Given the description of an element on the screen output the (x, y) to click on. 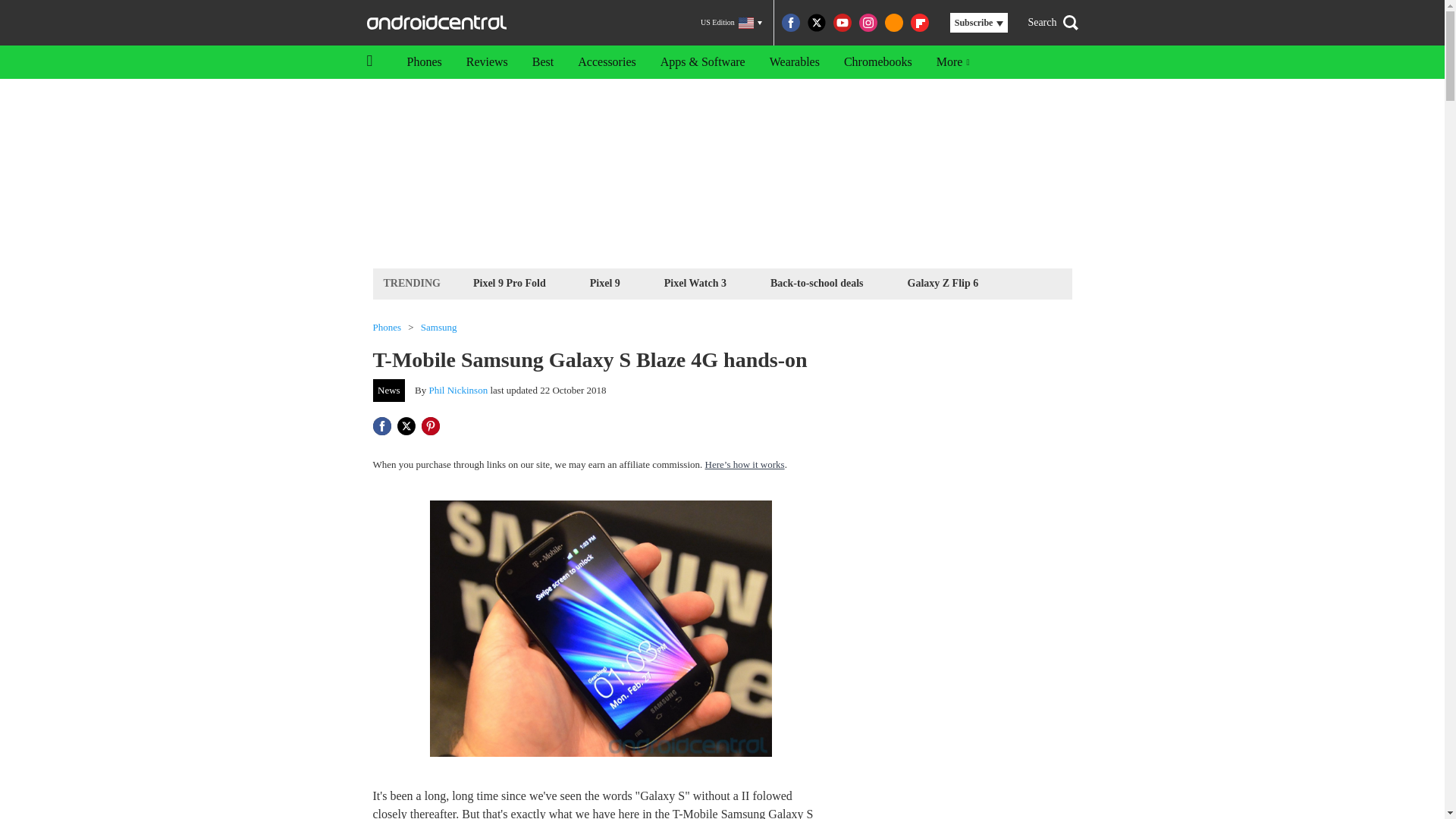
Pixel 9 (605, 282)
Best (542, 61)
Galaxy Z Flip 6 (943, 282)
Phones (423, 61)
Samsung (438, 327)
Wearables (794, 61)
Chromebooks (877, 61)
Accessories (606, 61)
Pixel Watch 3 (695, 282)
Reviews (486, 61)
